Given the description of an element on the screen output the (x, y) to click on. 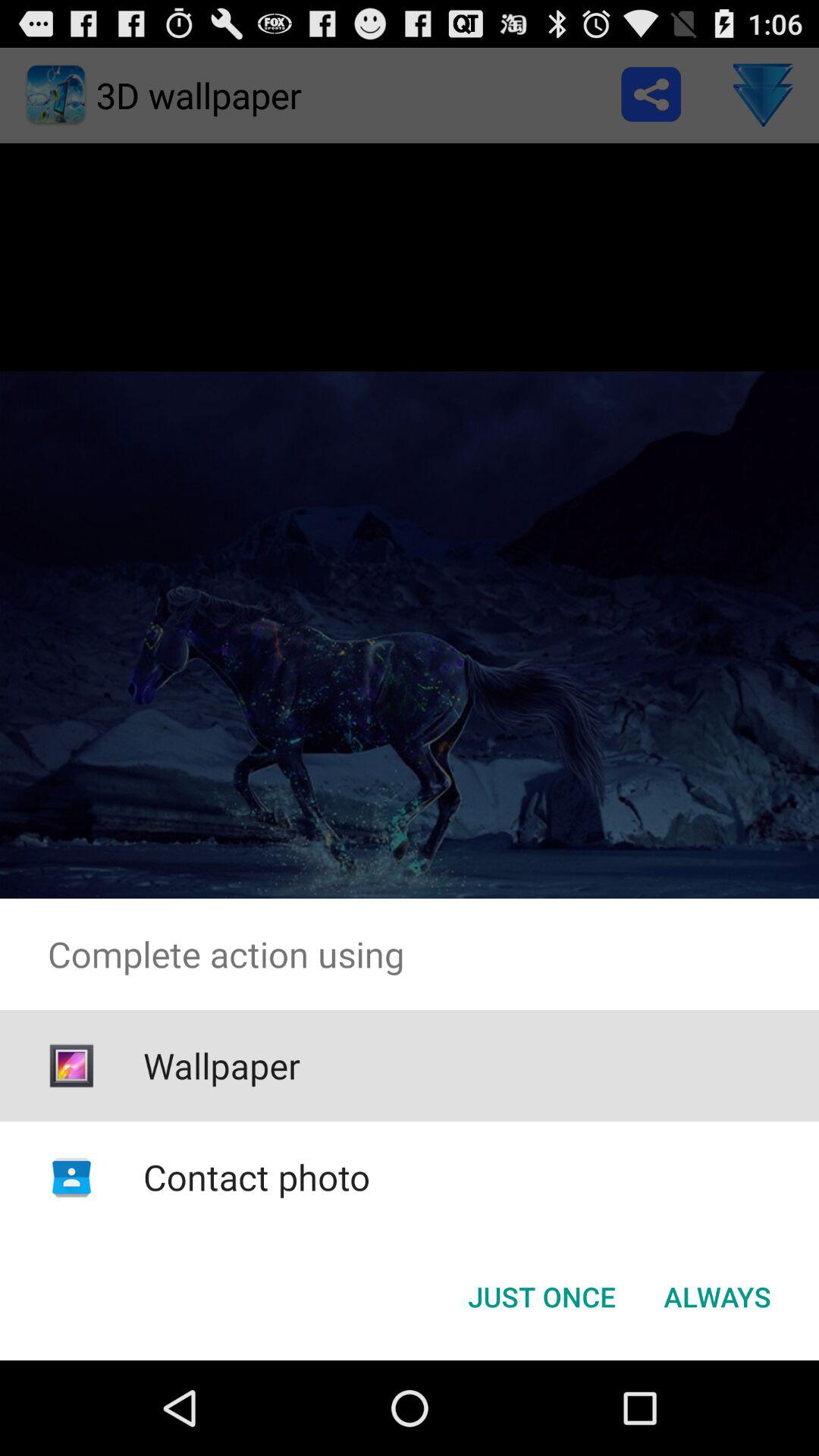
tap the icon above the contact photo icon (221, 1065)
